Given the description of an element on the screen output the (x, y) to click on. 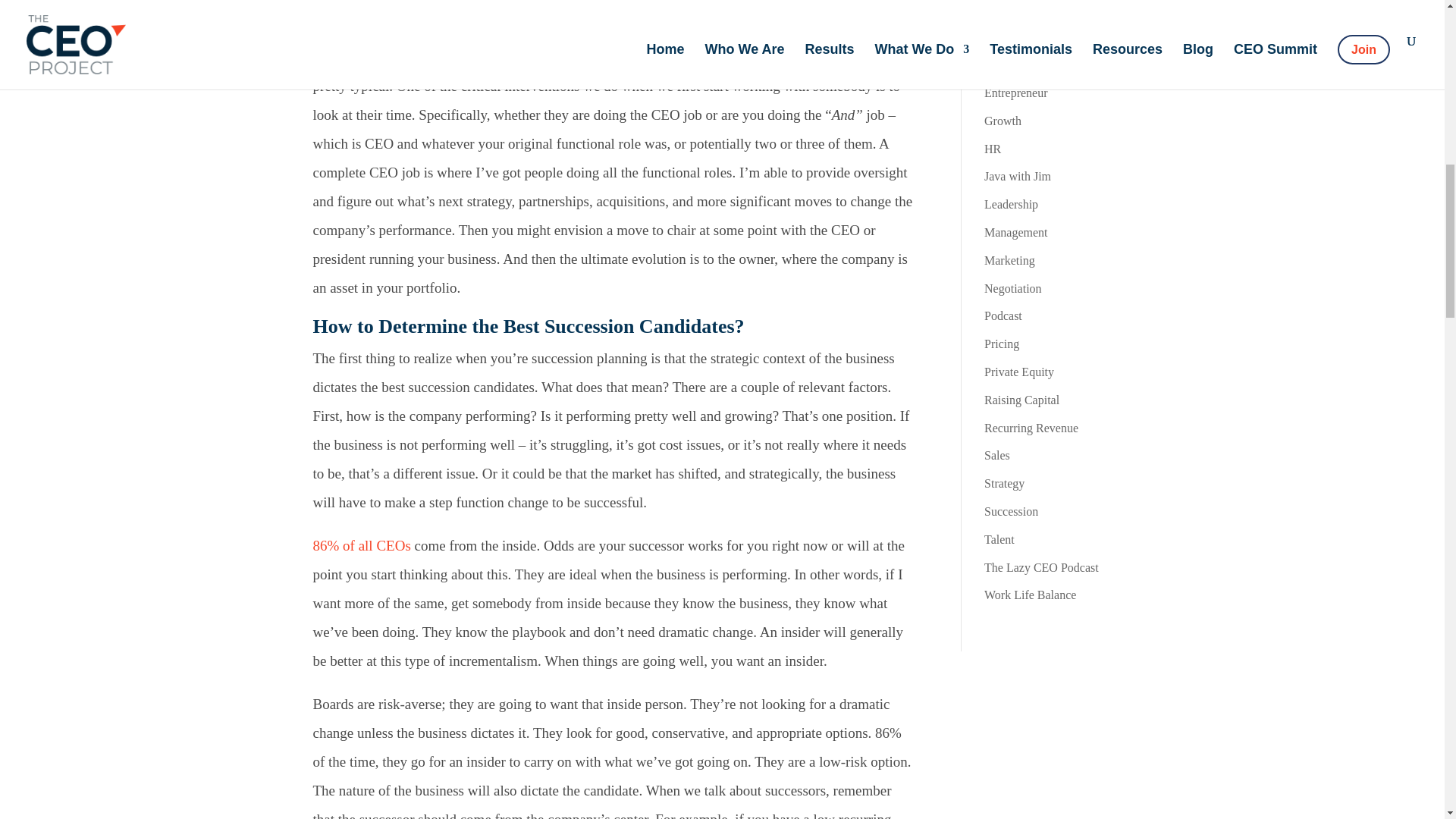
Decision Making (1026, 9)
